Given the description of an element on the screen output the (x, y) to click on. 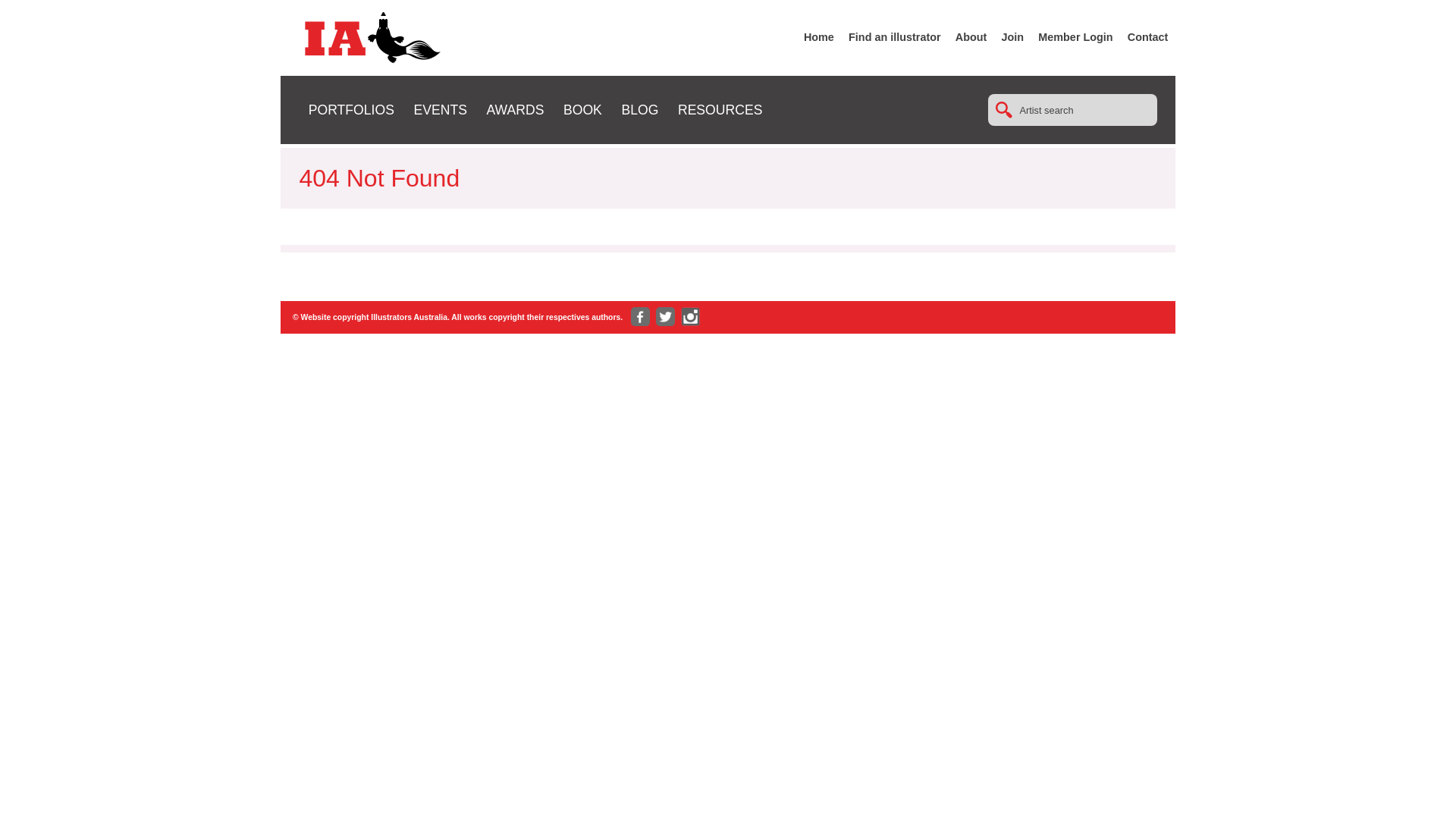
BLOG Element type: text (639, 109)
RESOURCES Element type: text (719, 109)
Member Login Element type: text (1075, 37)
PORTFOLIOS Element type: text (351, 109)
Join Element type: text (1012, 37)
BOOK Element type: text (582, 109)
EVENTS Element type: text (439, 109)
Find an illustrator Element type: text (894, 37)
Home Element type: text (818, 37)
AWARDS Element type: text (514, 109)
Contact Element type: text (1147, 37)
About Element type: text (971, 37)
